Given the description of an element on the screen output the (x, y) to click on. 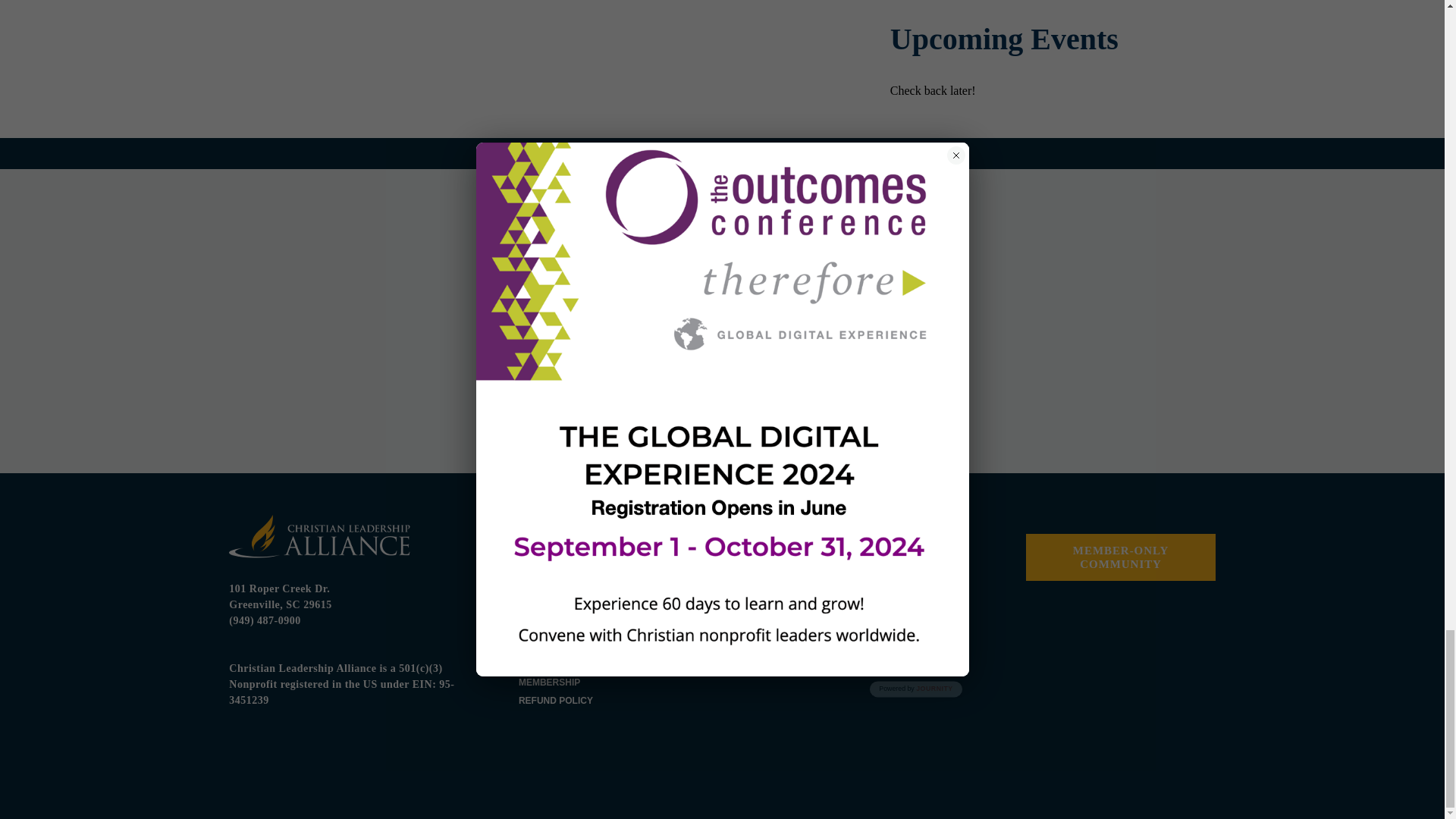
cla-logo-reversed (319, 536)
